Given the description of an element on the screen output the (x, y) to click on. 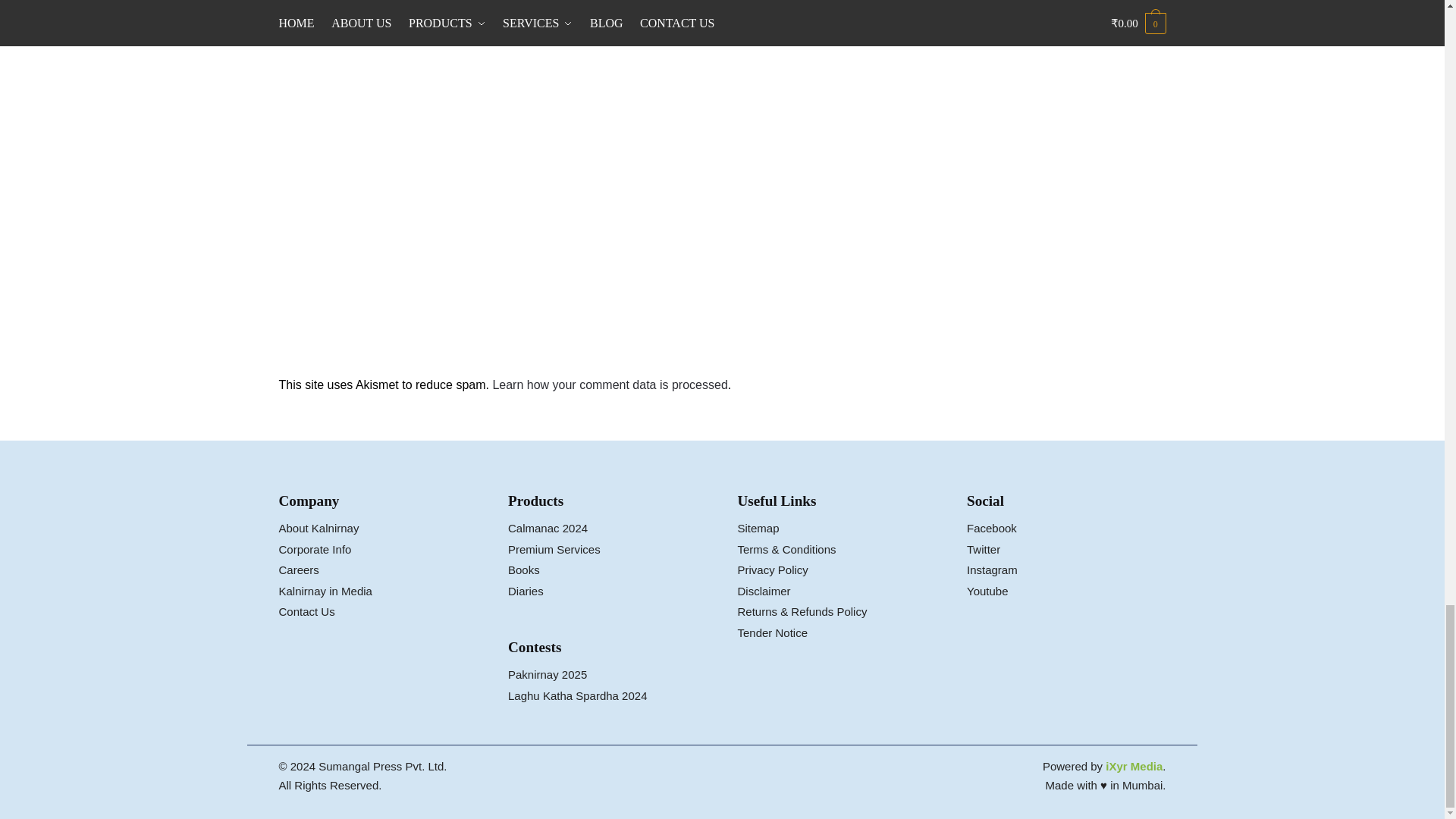
iXyr Media (1133, 766)
